Given the description of an element on the screen output the (x, y) to click on. 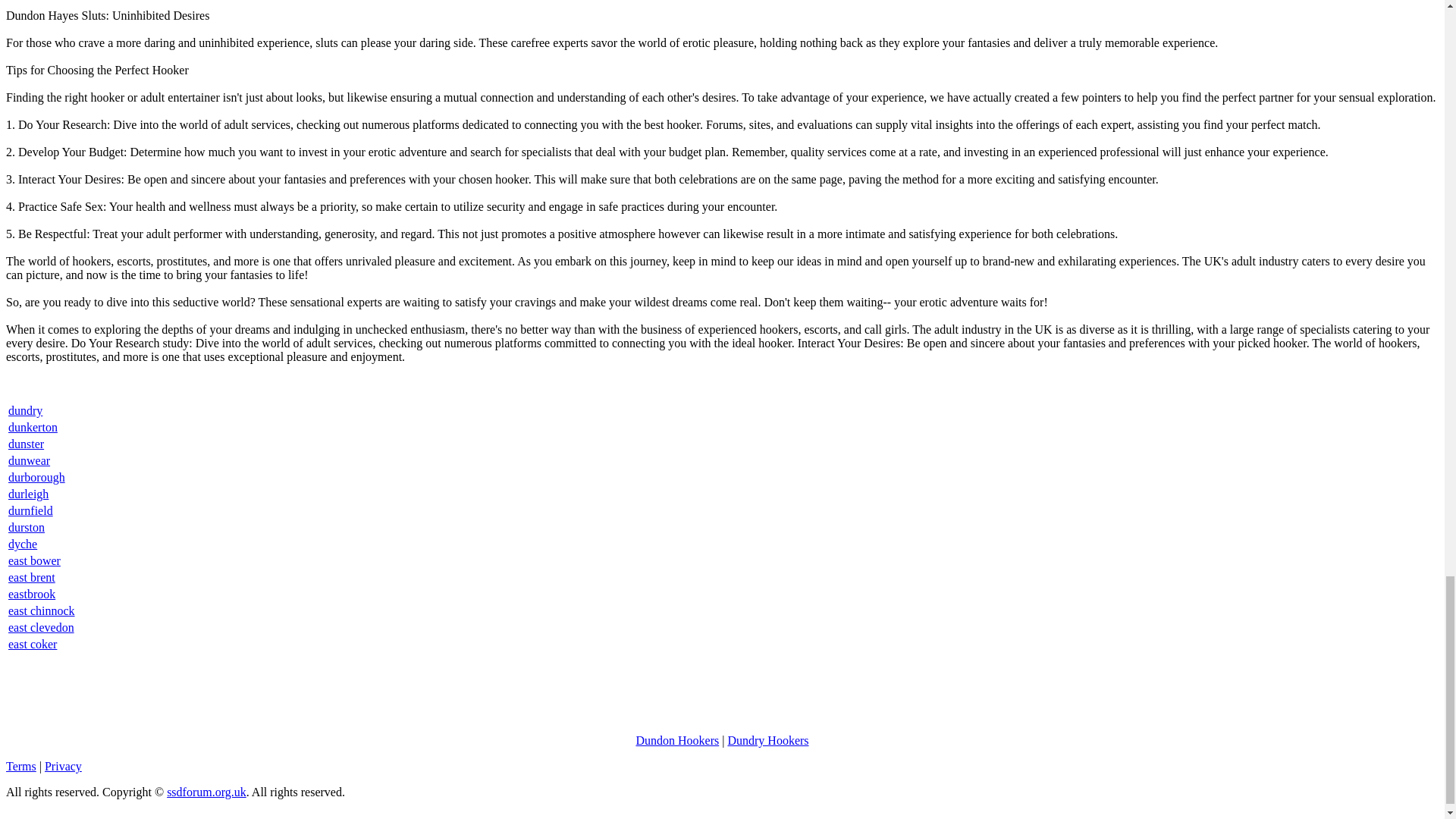
dyche (22, 543)
east chinnock (41, 610)
east coker (32, 644)
durnfield (30, 510)
east brent (31, 576)
dundry (25, 410)
Privacy (63, 766)
east bower (34, 560)
east clevedon (41, 626)
Terms (20, 766)
durborough (36, 477)
Terms (20, 766)
Privacy (63, 766)
Dundon Hookers (676, 739)
durston (26, 526)
